Given the description of an element on the screen output the (x, y) to click on. 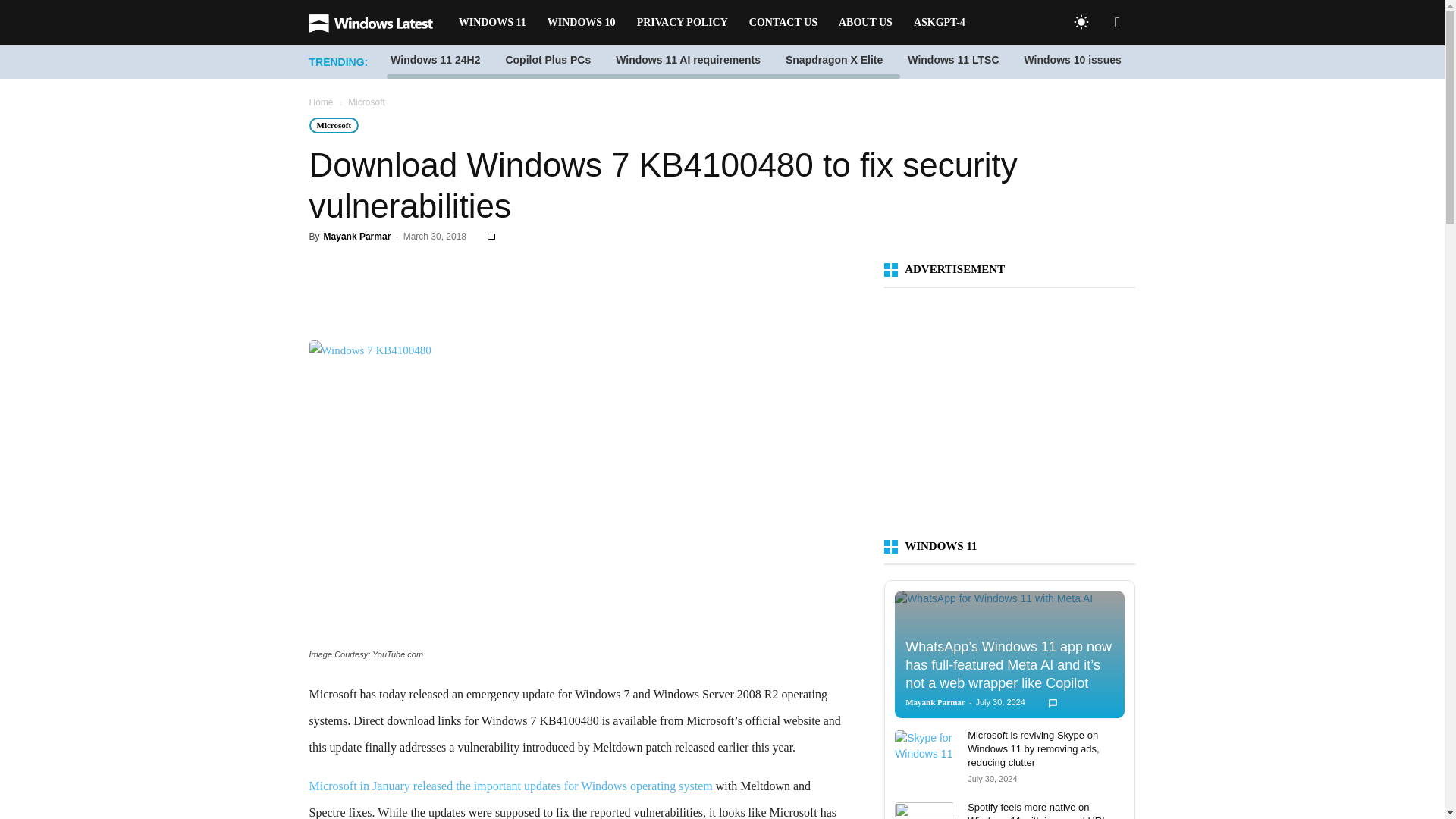
WINDOWS 11 (492, 22)
WINDOWS 10 (581, 22)
Windows Latest (378, 22)
